Given the description of an element on the screen output the (x, y) to click on. 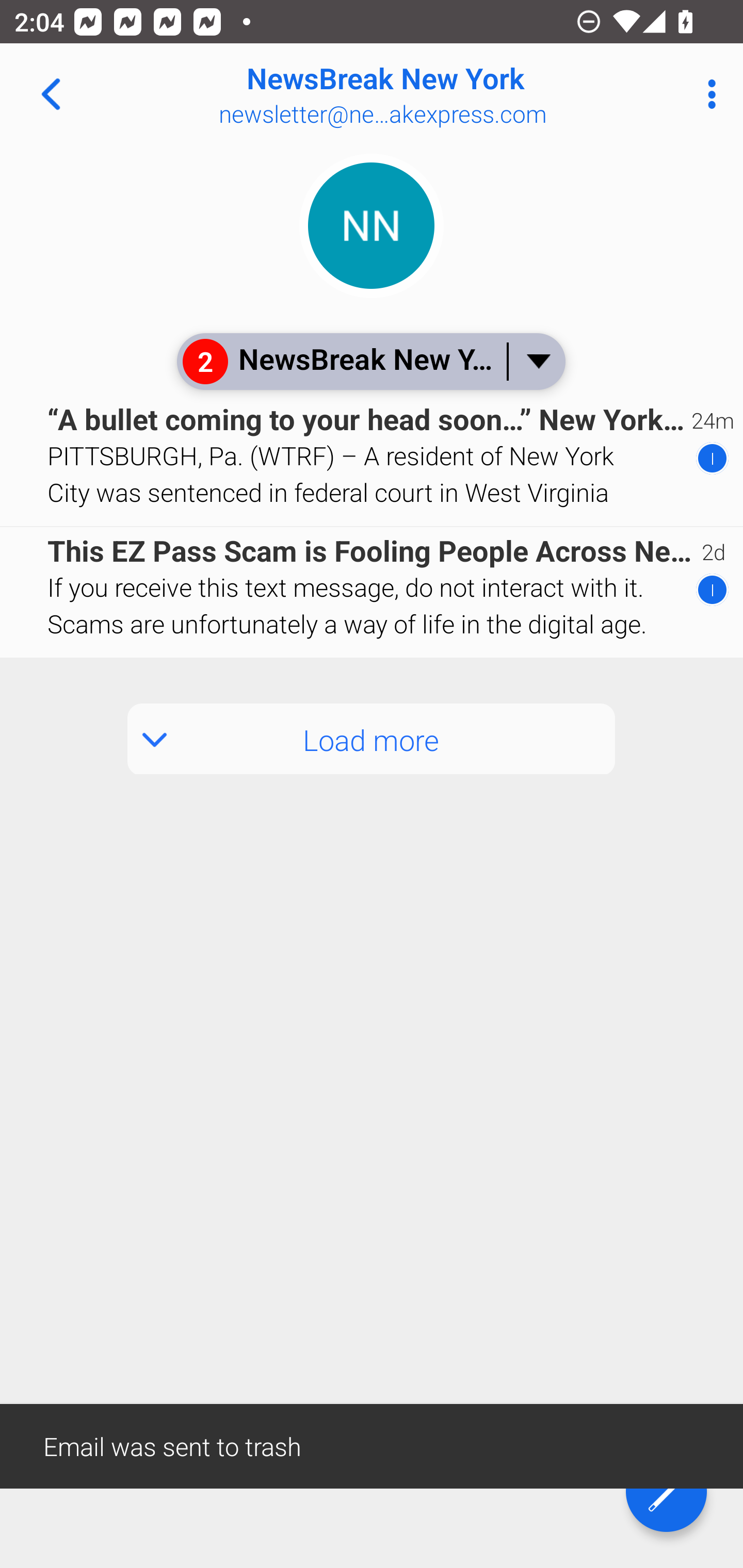
Navigate up (50, 93)
NewsBreak New York newsletter@newsbreakexpress.com (436, 93)
More Options (706, 93)
2 NewsBreak New York & You (370, 361)
Load more (371, 739)
Email was sent to trash (371, 1445)
